Given the description of an element on the screen output the (x, y) to click on. 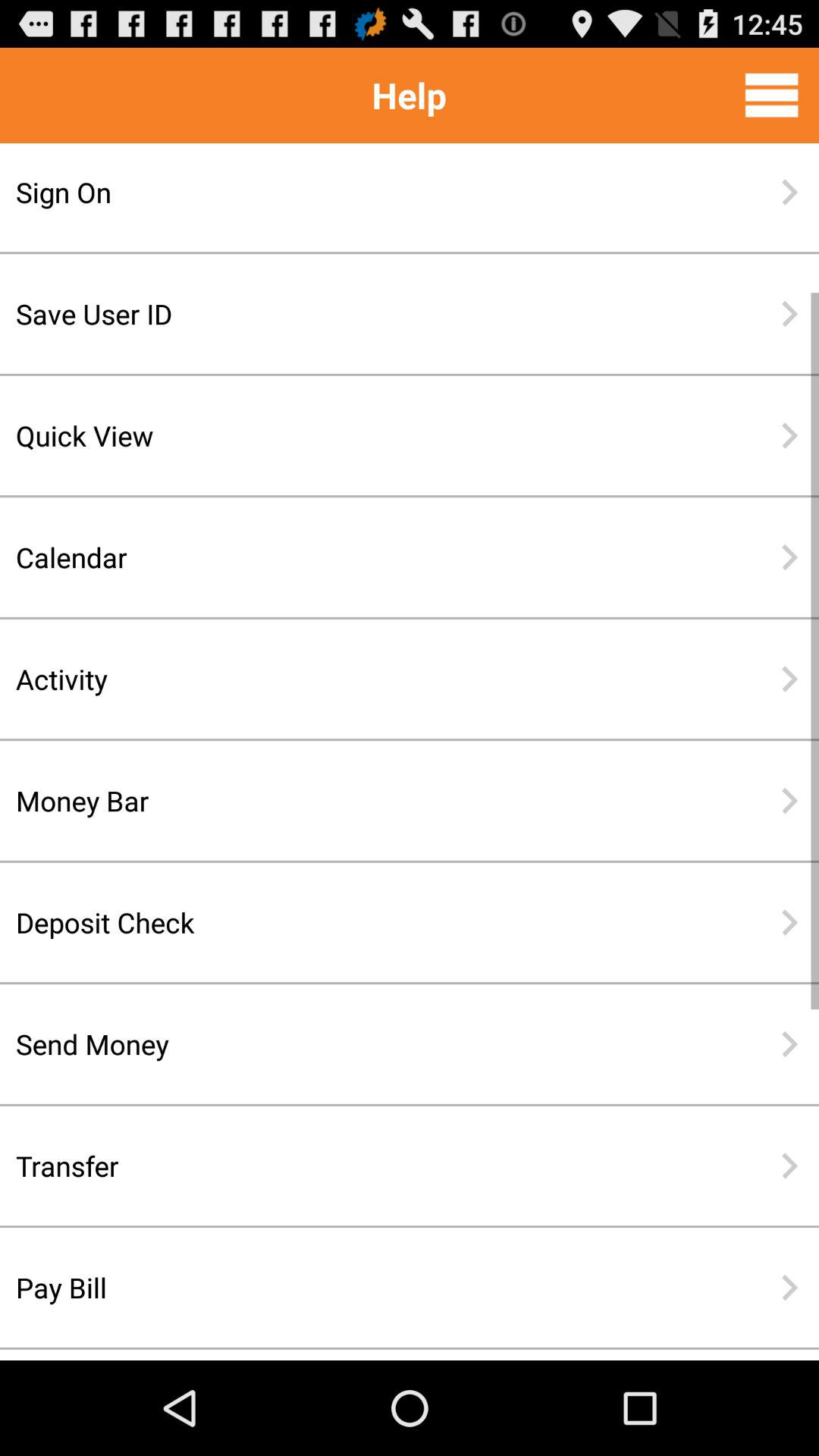
turn on the item above the money bar item (359, 678)
